Given the description of an element on the screen output the (x, y) to click on. 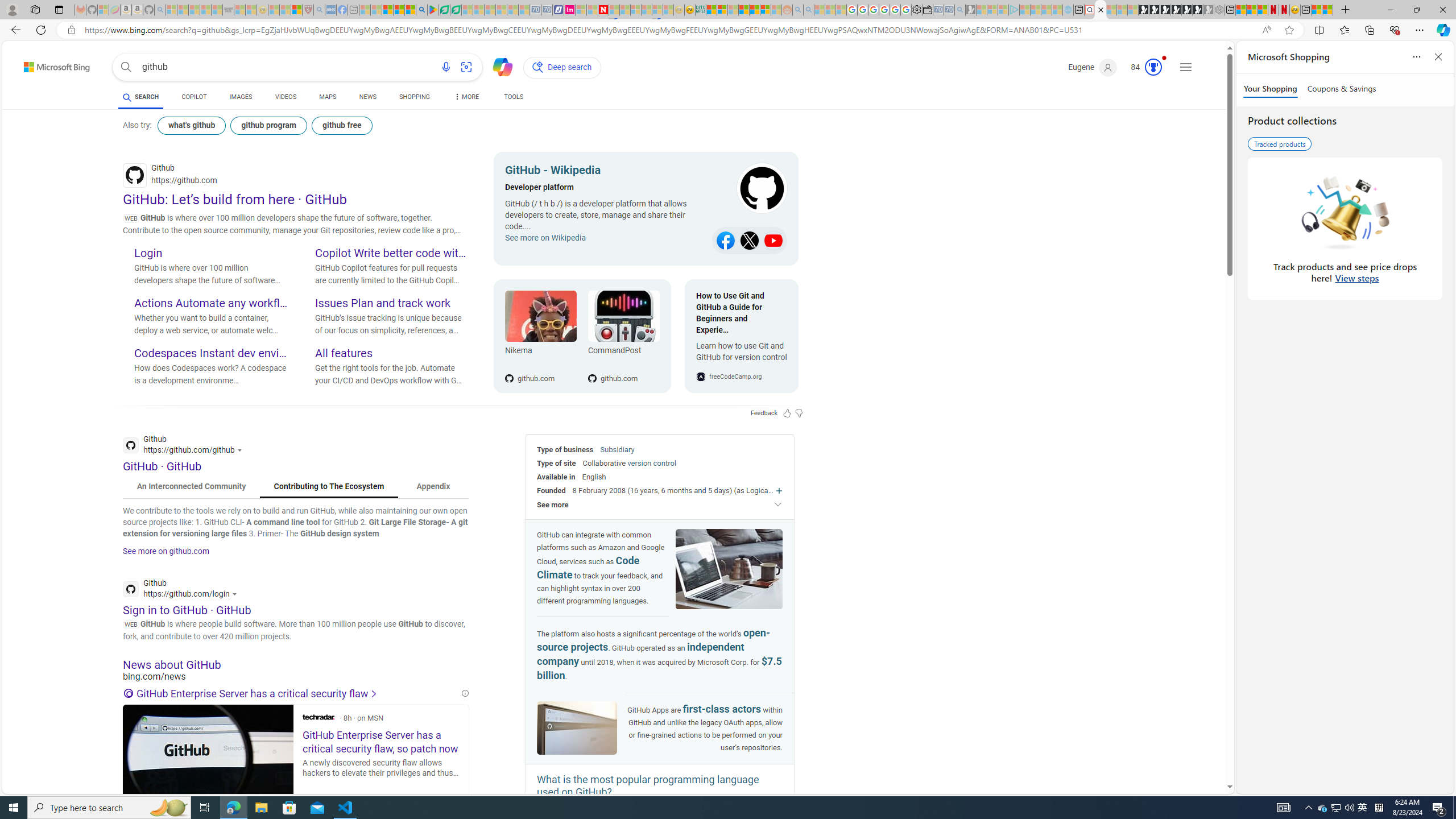
Available in (556, 476)
GitHub Enterprise Server has a critical security flaw (291, 693)
Back to Bing search (50, 64)
Terms of Use Agreement (443, 9)
CommandPost (623, 315)
what's github (191, 125)
